Given the description of an element on the screen output the (x, y) to click on. 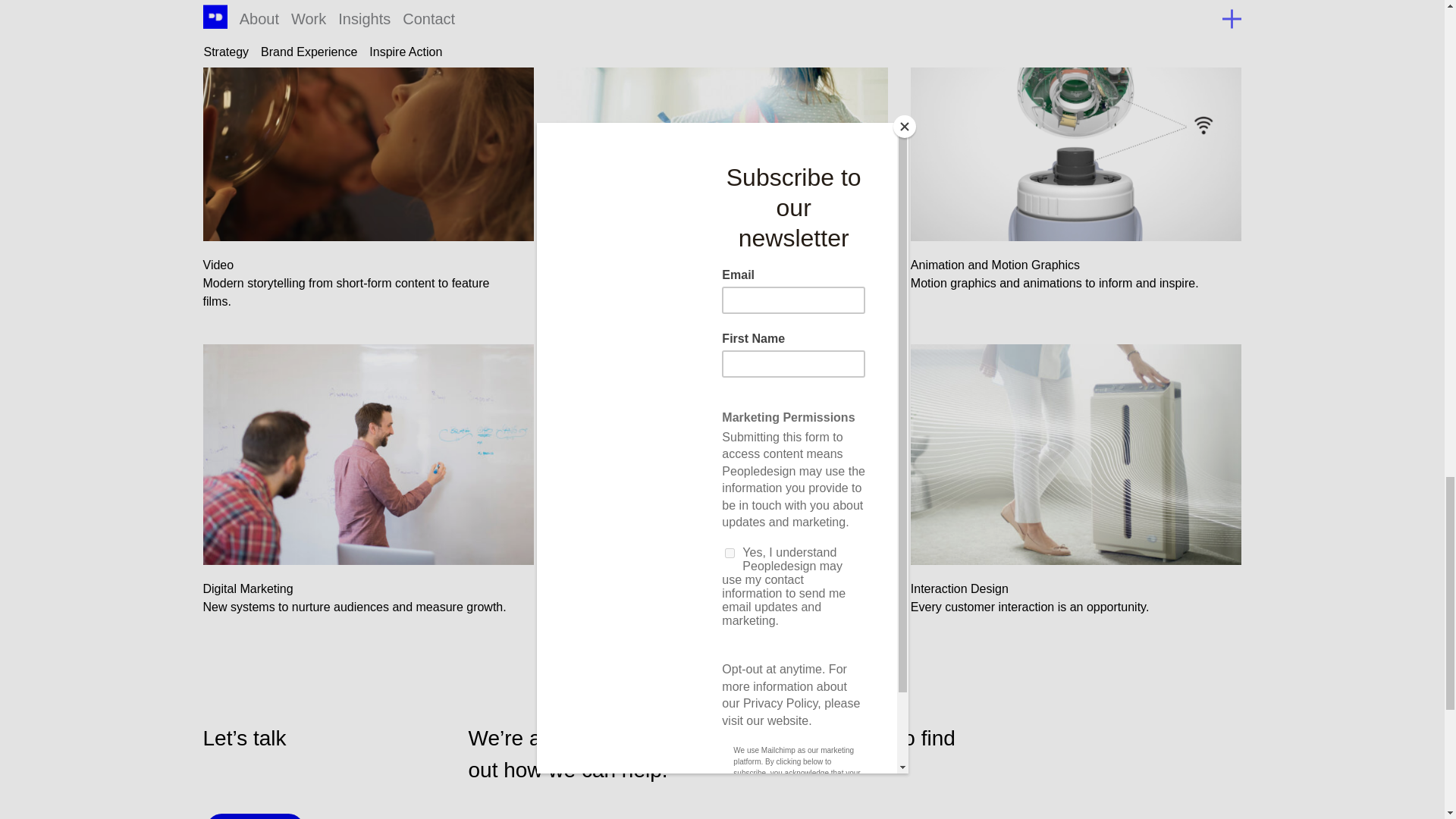
Contact Us (255, 816)
